Given the description of an element on the screen output the (x, y) to click on. 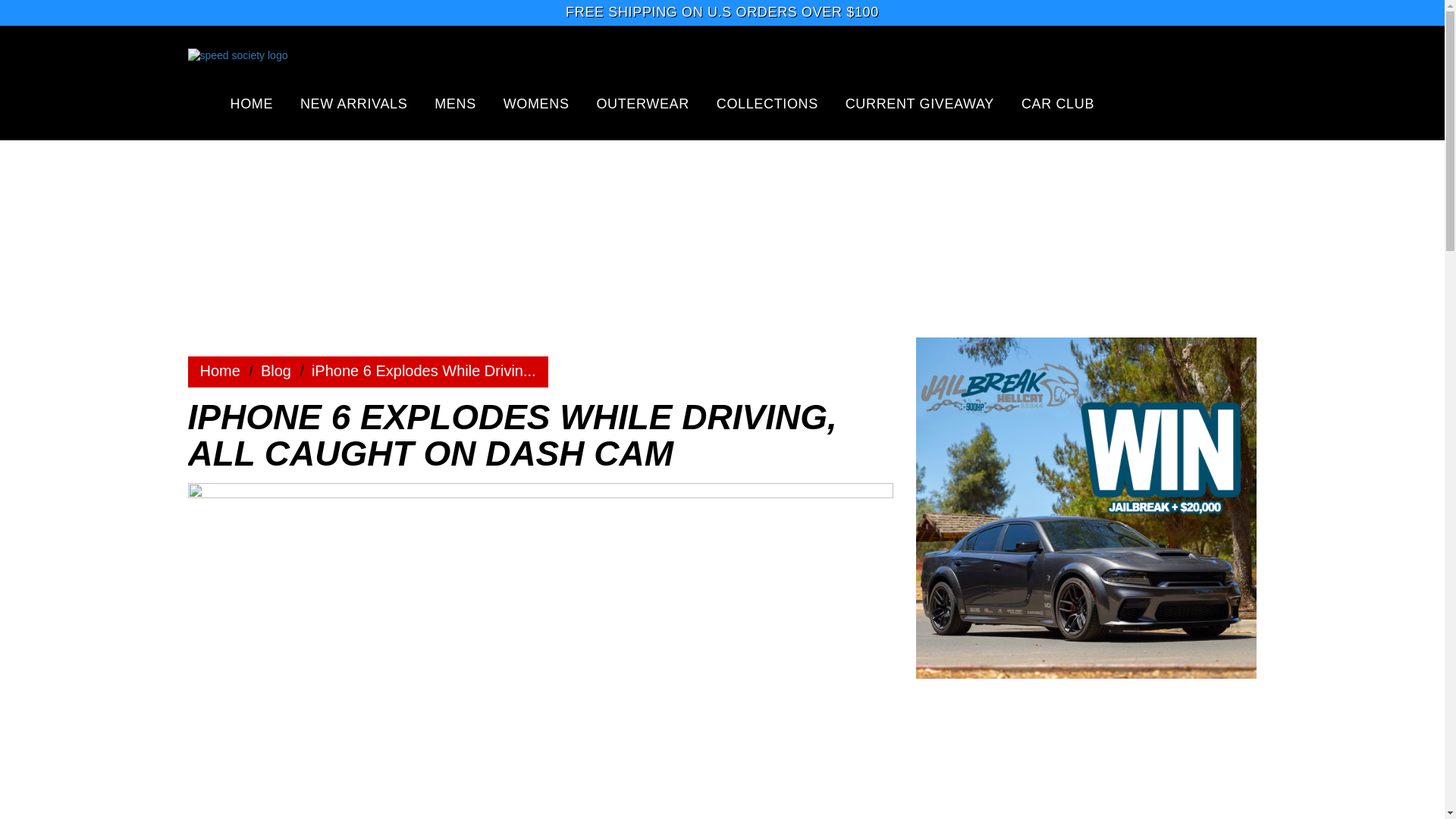
OUTERWEAR (641, 103)
Home (275, 370)
HOME (251, 103)
Blog (275, 370)
speed society logo (308, 69)
MENS (454, 103)
CURRENT GIVEAWAY (919, 103)
WOMENS (536, 103)
COLLECTIONS (767, 103)
